Given the description of an element on the screen output the (x, y) to click on. 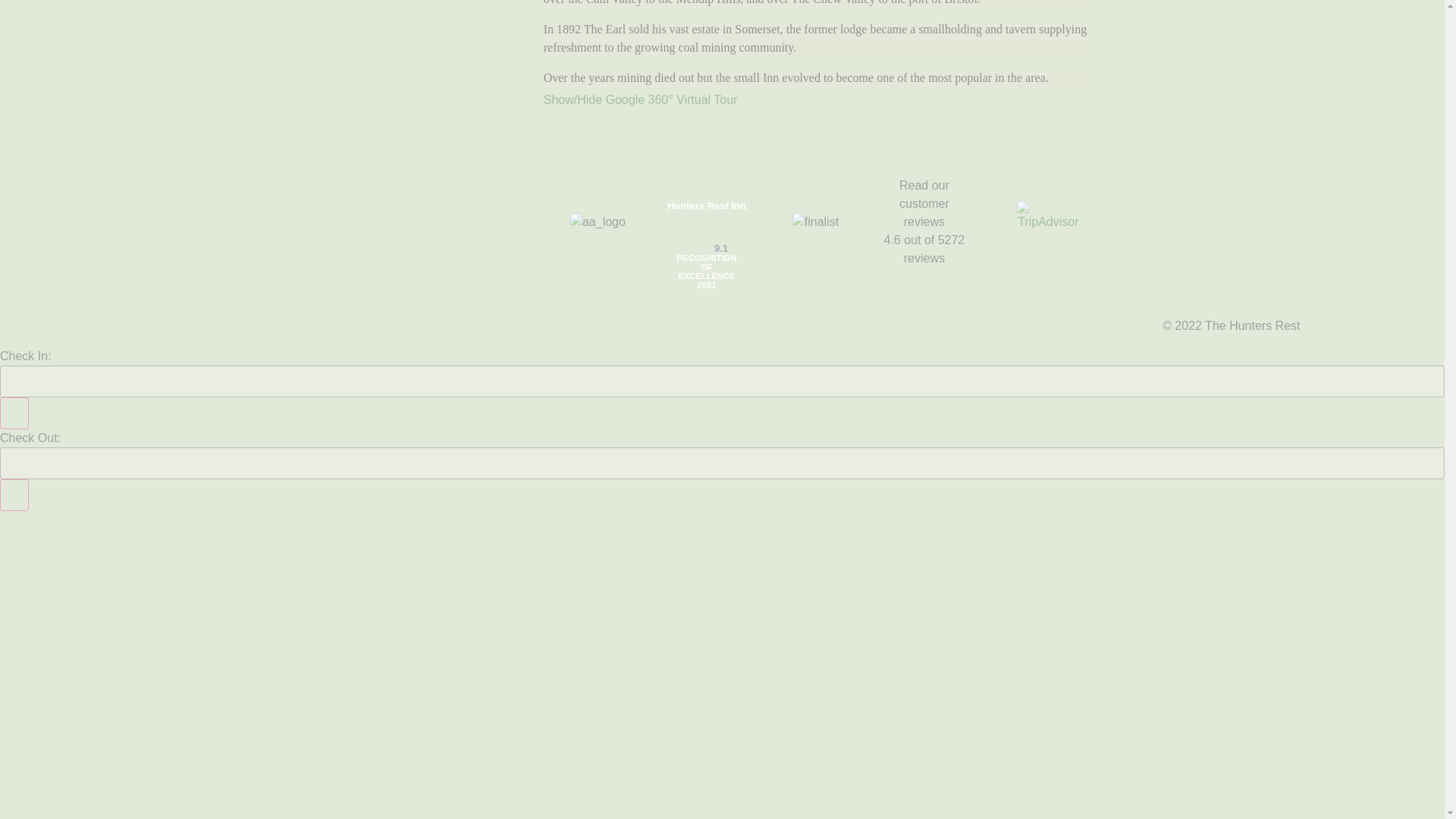
Check Availability (59, 526)
finalist (815, 221)
Hunters Rest Inn (706, 205)
